Given the description of an element on the screen output the (x, y) to click on. 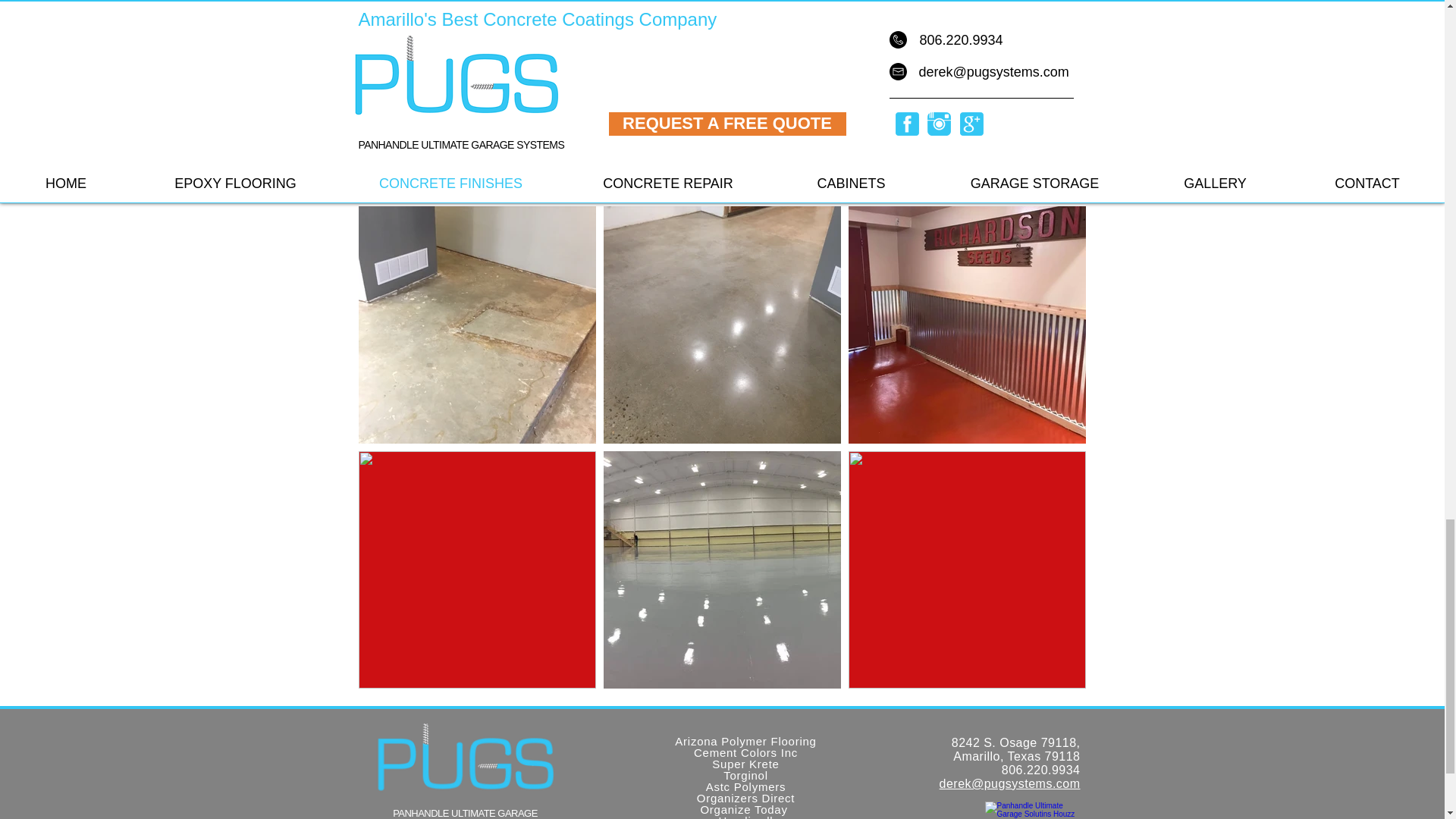
Torginol (745, 775)
Organizers Direct (745, 797)
Organize Today  (745, 809)
Handiwall (746, 816)
Astc Polymers (746, 786)
Super Krete (744, 763)
Cement Colors Inc (745, 752)
Arizona Polymer Flooring (745, 740)
